Given the description of an element on the screen output the (x, y) to click on. 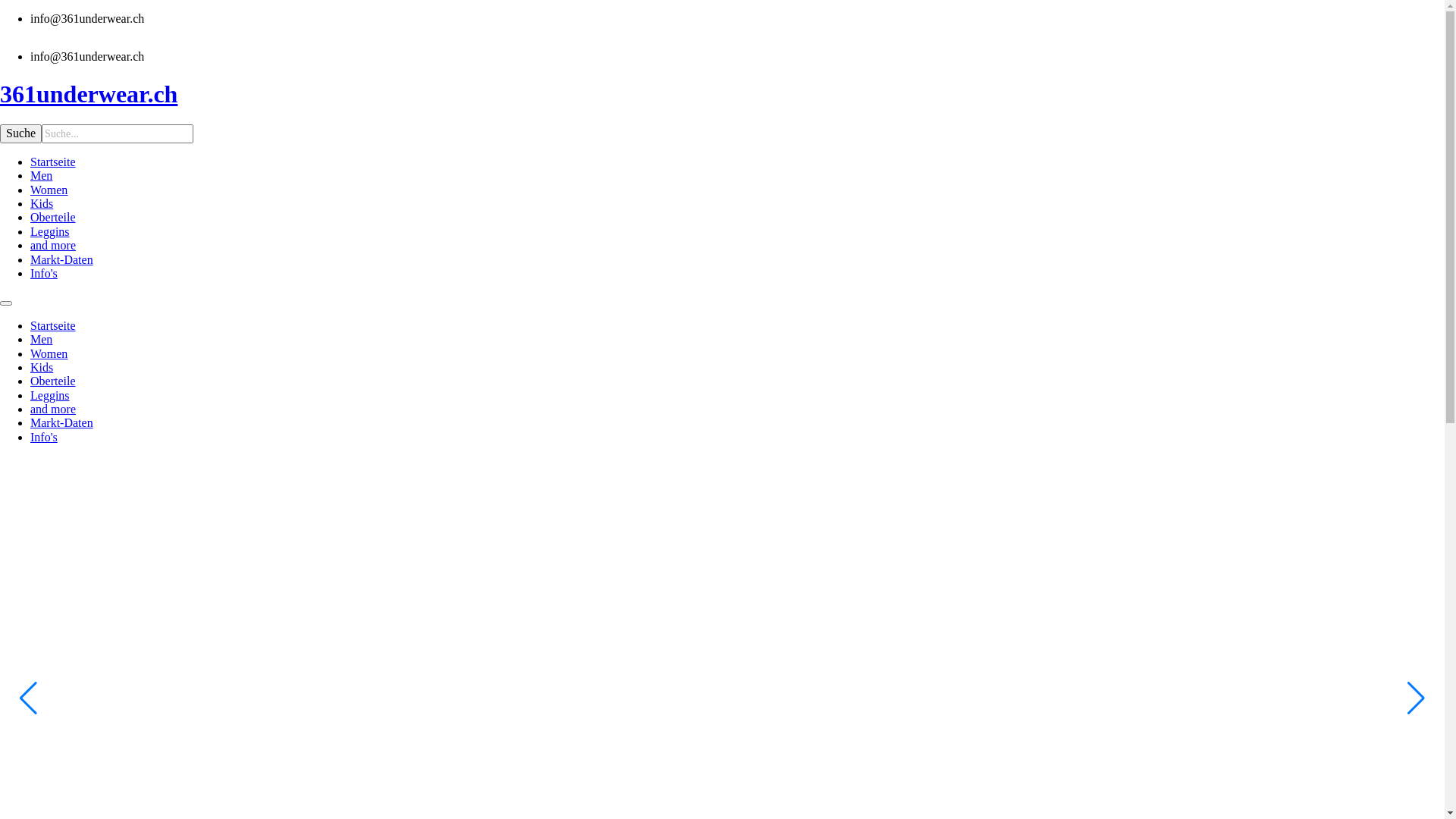
Info's Element type: text (43, 436)
Markt-Daten Element type: text (61, 259)
Kids Element type: text (41, 366)
Men Element type: text (41, 338)
and more Element type: text (52, 244)
Oberteile Element type: text (52, 380)
Leggins Element type: text (49, 395)
Kids Element type: text (41, 203)
Women Element type: text (48, 353)
Startseite Element type: text (52, 325)
Women Element type: text (48, 189)
361underwear.ch Element type: text (722, 94)
Oberteile Element type: text (52, 216)
Startseite Element type: text (52, 161)
Men Element type: text (41, 175)
and more Element type: text (52, 408)
Leggins Element type: text (49, 231)
Suche Element type: text (20, 133)
Info's Element type: text (43, 272)
Markt-Daten Element type: text (61, 422)
